Given the description of an element on the screen output the (x, y) to click on. 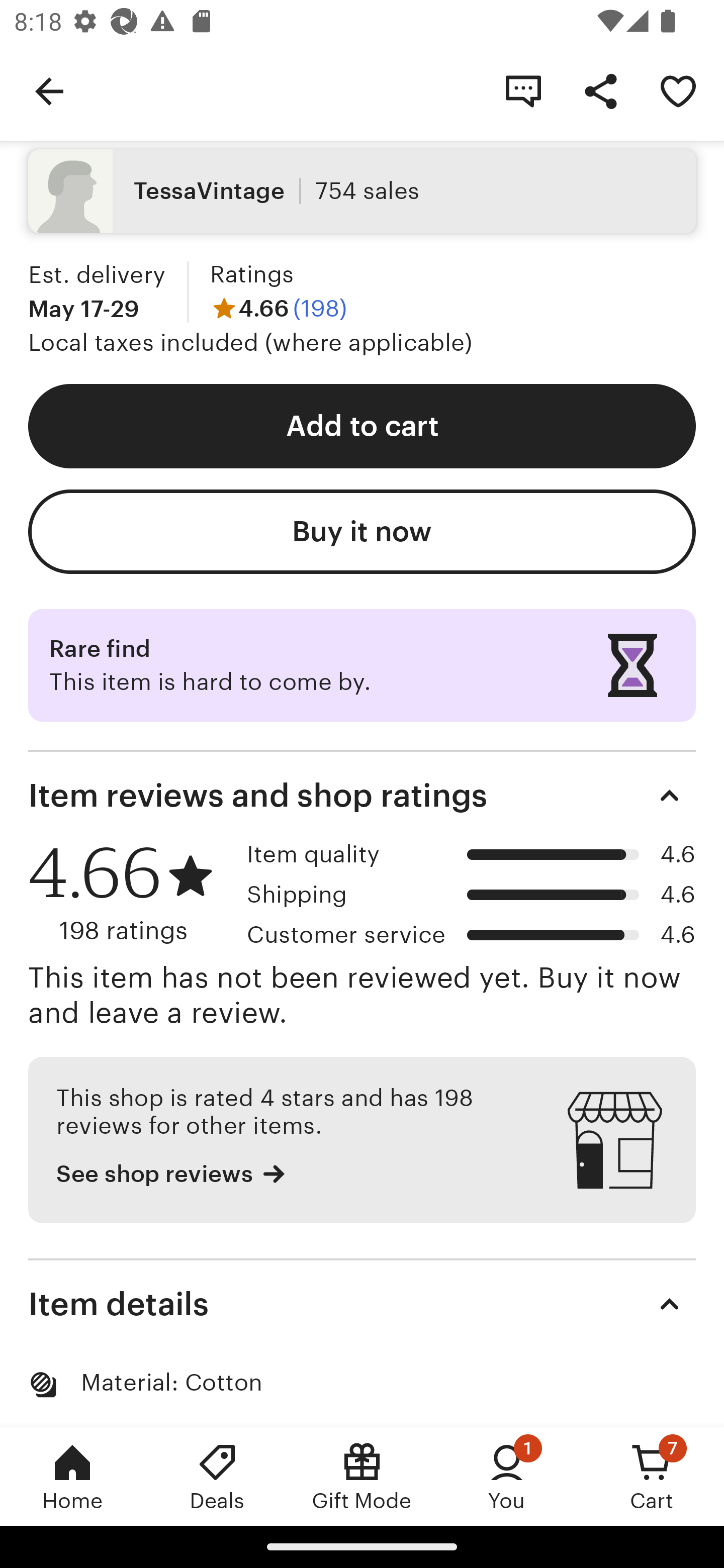
Navigate up (49, 90)
Contact shop (523, 90)
Share (600, 90)
TessaVintage 754 sales (361, 190)
Ratings (251, 273)
4.66 (198) (277, 308)
Add to cart (361, 426)
Buy it now (361, 531)
Item reviews and shop ratings (362, 795)
4.66 198 ratings (130, 893)
Item details (362, 1304)
Deals (216, 1475)
Gift Mode (361, 1475)
You, 1 new notification You (506, 1475)
Cart, 7 new notifications Cart (651, 1475)
